Given the description of an element on the screen output the (x, y) to click on. 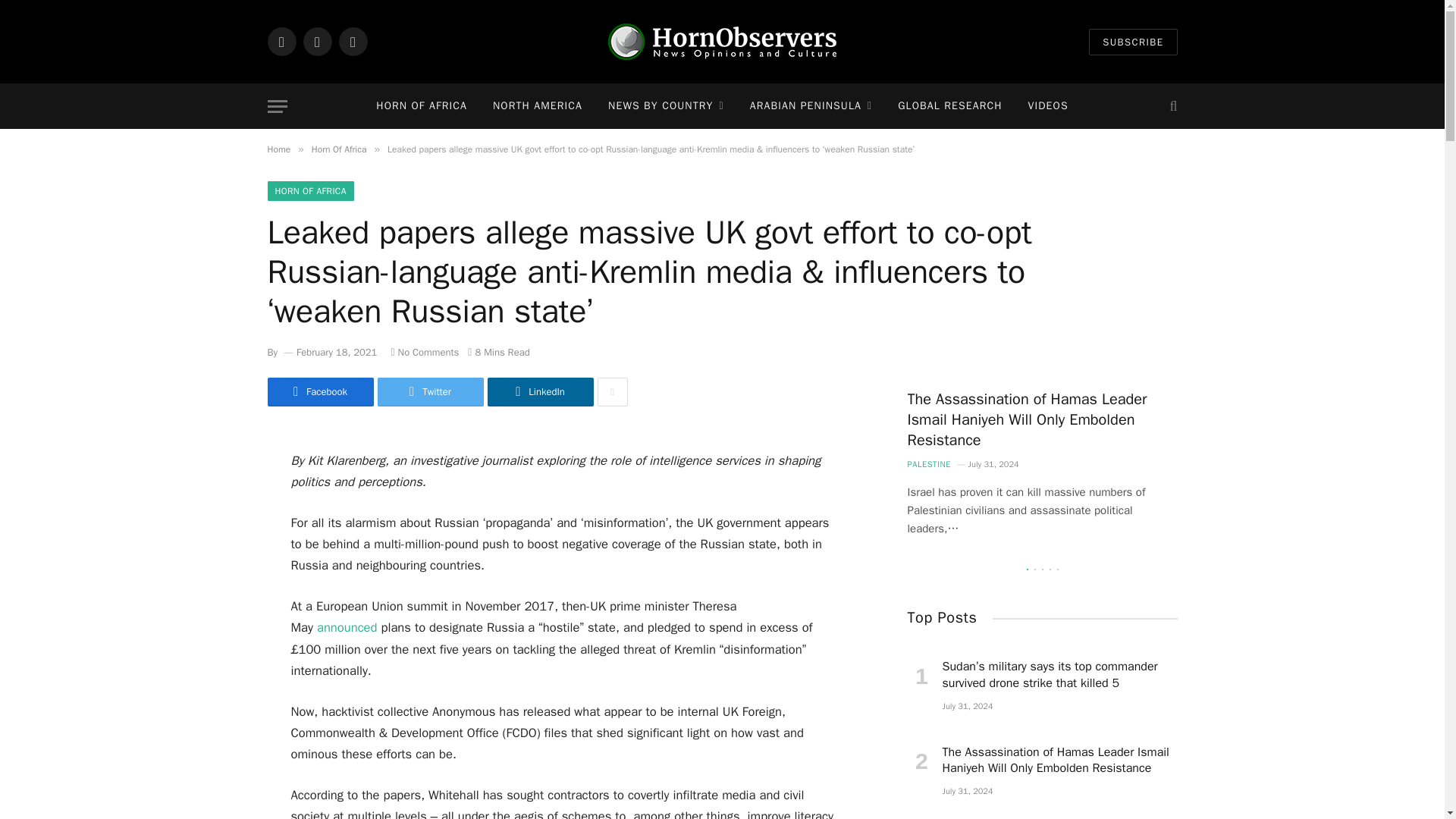
Instagram (351, 41)
Share on Facebook (319, 391)
SUBSCRIBE (1132, 41)
Facebook (280, 41)
ARABIAN PENINSULA (810, 105)
NEWS BY COUNTRY (665, 105)
Show More Social Sharing (611, 391)
Share on LinkedIn (539, 391)
HORN OF AFRICA (421, 105)
NORTH AMERICA (537, 105)
Horn Observers (721, 41)
